Given the description of an element on the screen output the (x, y) to click on. 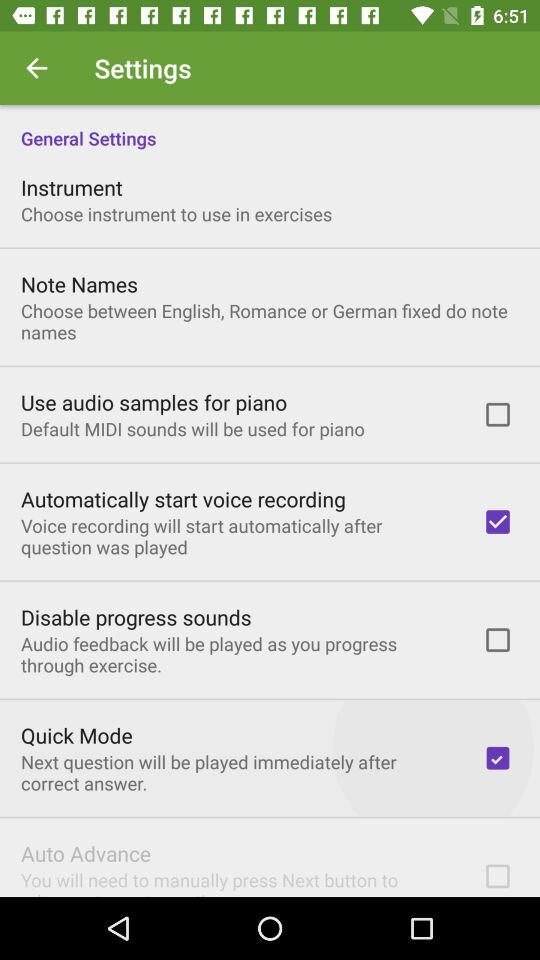
swipe until auto advance item (86, 853)
